Given the description of an element on the screen output the (x, y) to click on. 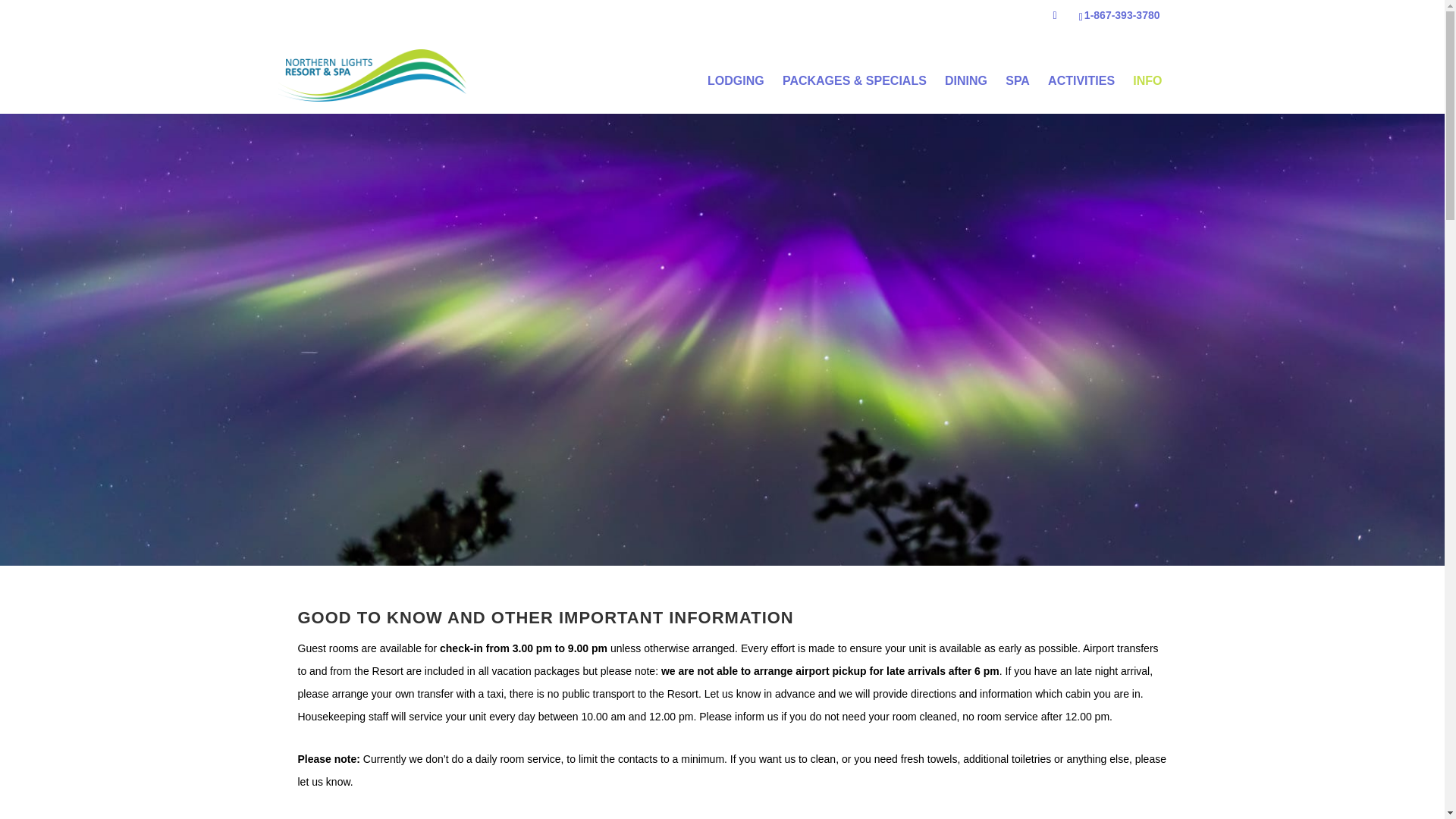
SPA (1016, 80)
DINING (965, 80)
LODGING (735, 80)
INFO (1147, 80)
ACTIVITIES (1081, 80)
